Given the description of an element on the screen output the (x, y) to click on. 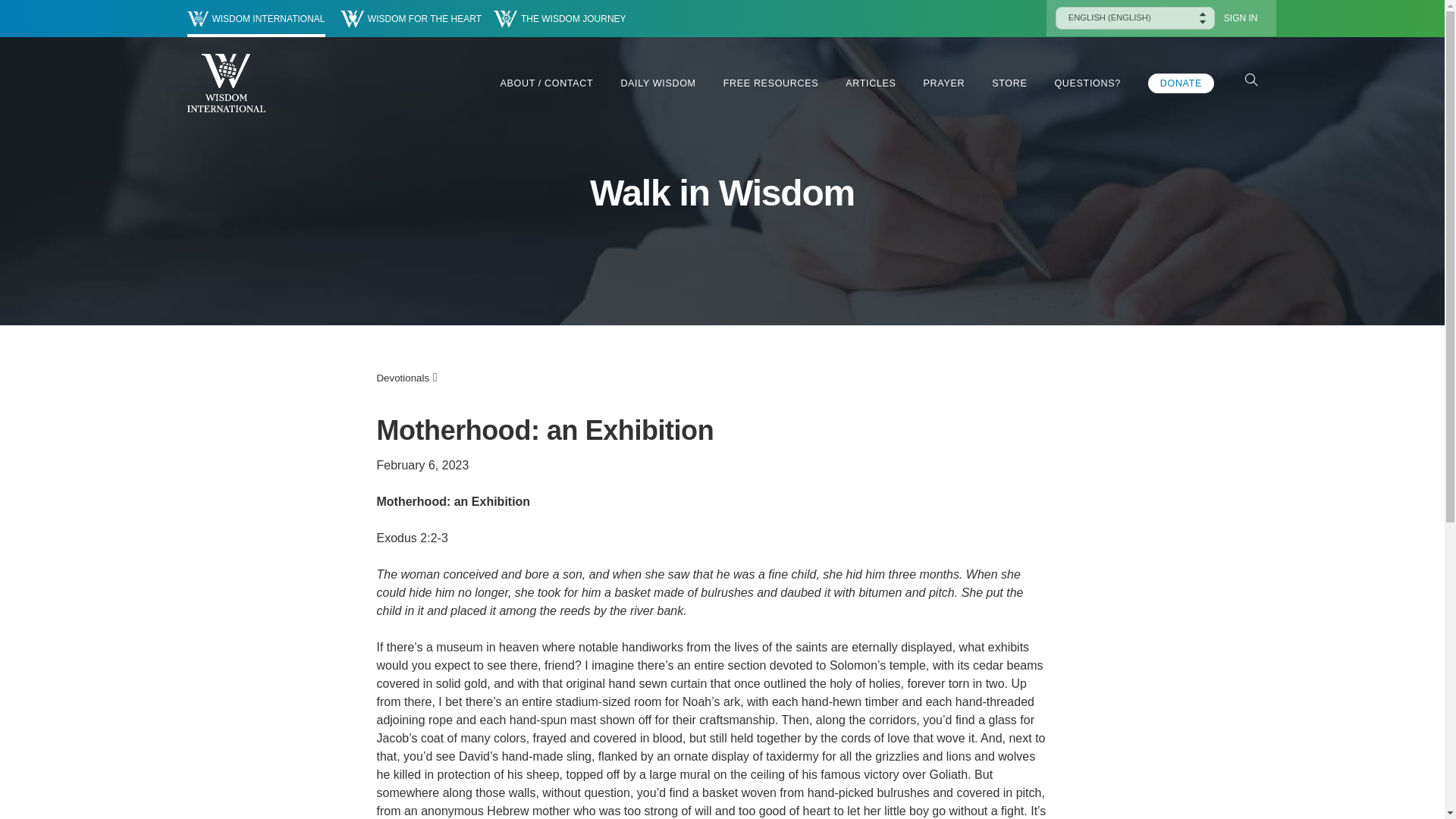
WISDOM FOR THE HEART (410, 18)
DAILY WISDOM (657, 83)
DONATE (1181, 83)
Sign In (1240, 18)
FREE RESOURCES (770, 83)
WISDOM INTERNATIONAL (255, 18)
SIGN IN (1240, 18)
THE WISDOM JOURNEY (559, 18)
QUESTIONS? (1086, 83)
Devotionals (402, 377)
